Given the description of an element on the screen output the (x, y) to click on. 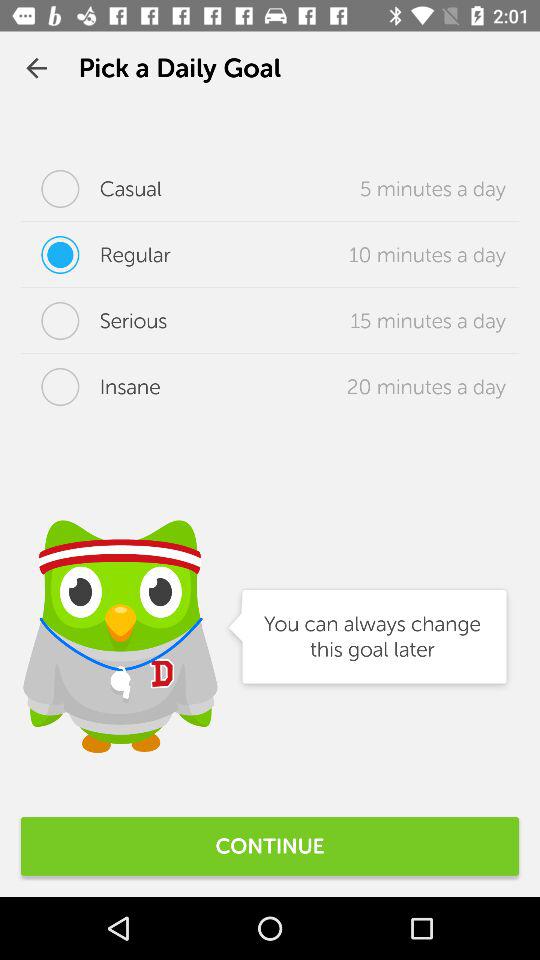
select the item below the serious (90, 387)
